Given the description of an element on the screen output the (x, y) to click on. 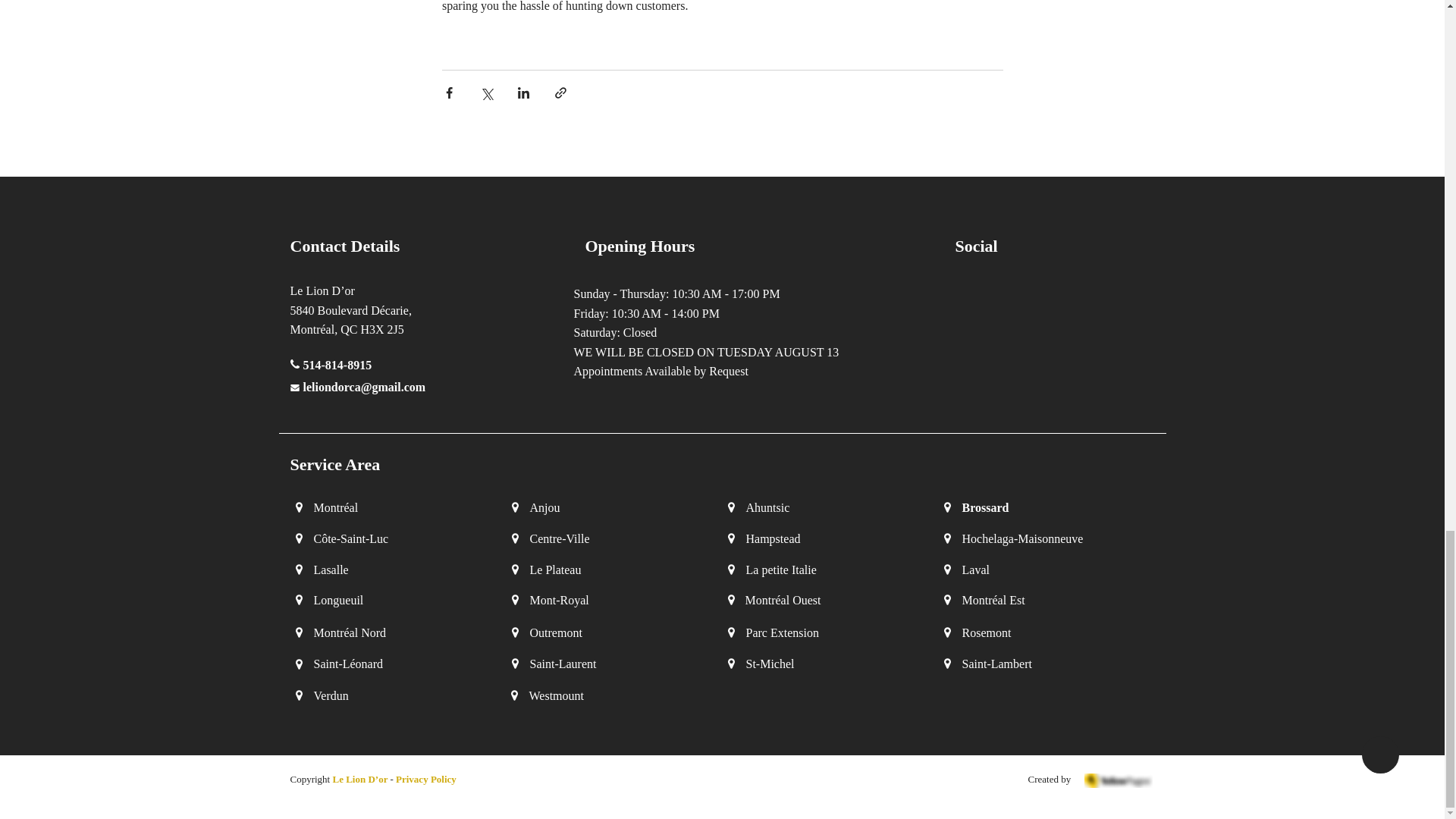
514-814-8915 (337, 366)
Privacy Policy (426, 778)
Brossard (984, 507)
